Given the description of an element on the screen output the (x, y) to click on. 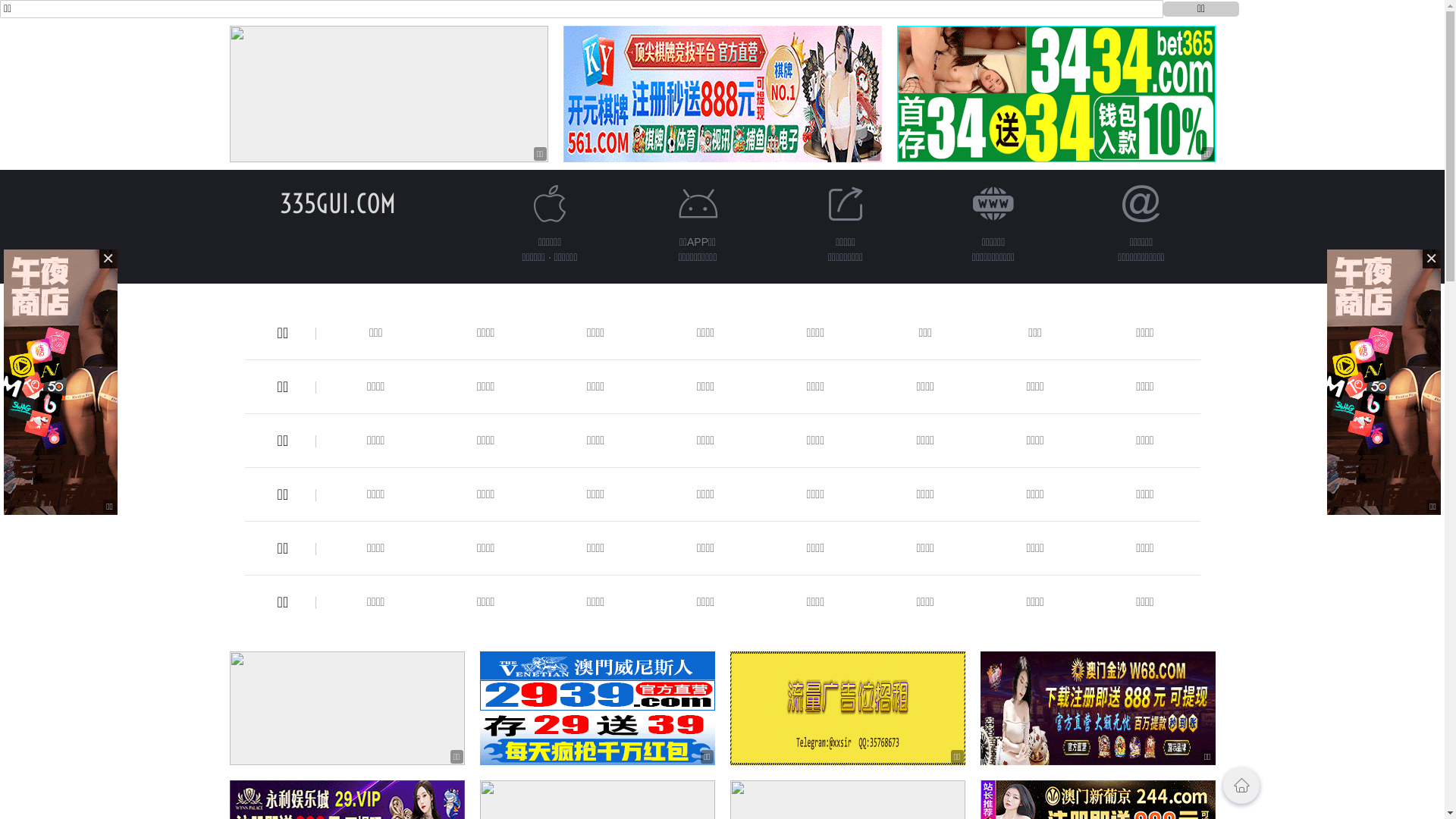
335GUI.COM Element type: text (337, 203)
